Given the description of an element on the screen output the (x, y) to click on. 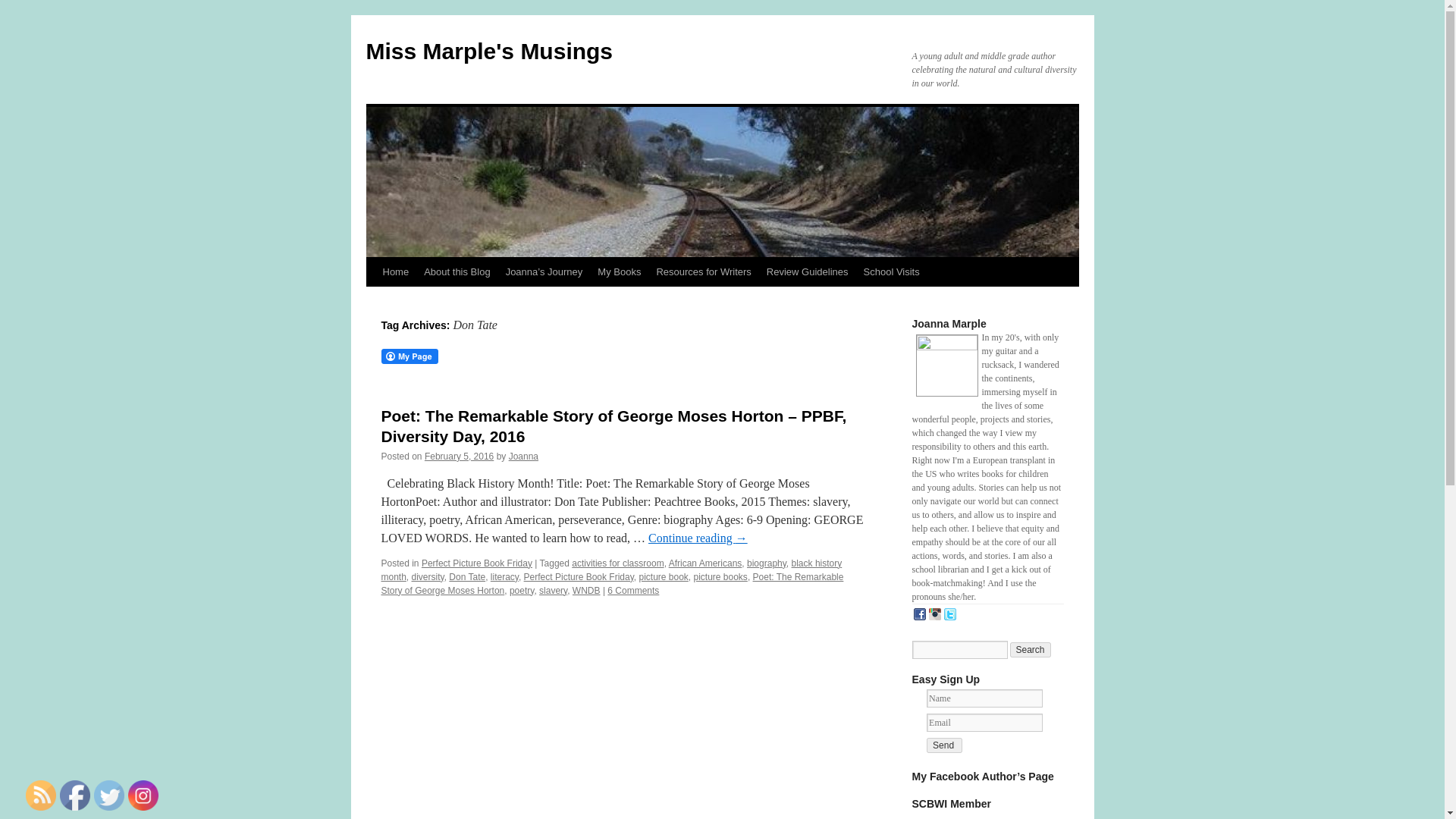
Resources for Writers (702, 271)
Miss Marple's Musings (488, 50)
poetry (521, 590)
Send  (944, 744)
Perfect Picture Book Friday (578, 576)
My Books (618, 271)
picture books (719, 576)
Miss Marple's Musings (488, 50)
African Americans (705, 562)
About this Blog (456, 271)
